Given the description of an element on the screen output the (x, y) to click on. 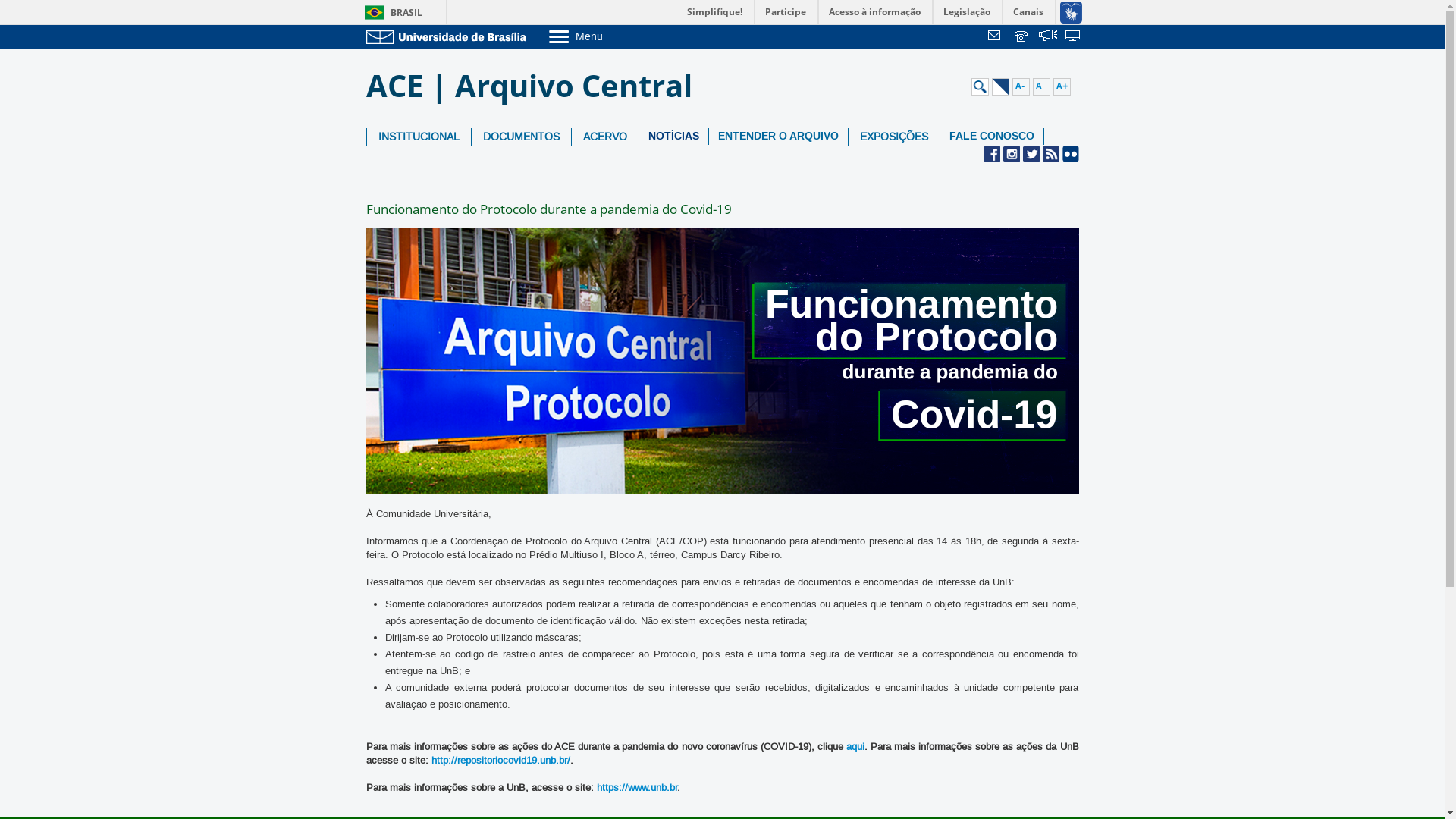
FALE CONOSCO Element type: text (991, 136)
Telefones da UnB Element type: hover (1022, 37)
A- Element type: text (1020, 86)
  Element type: text (1073, 37)
https://www.unb.br Element type: text (636, 787)
A+ Element type: text (1061, 86)
http://repositoriocovid19.unb.br/ Element type: text (499, 760)
  Element type: text (1047, 37)
ENTENDER O ARQUIVO Element type: text (777, 136)
A Element type: text (1041, 86)
Fala.BR Element type: hover (1047, 37)
BRASIL Element type: text (389, 12)
Menu Element type: text (613, 35)
  Element type: text (1022, 37)
ACE | Arquivo Central Element type: text (533, 85)
Webmail Element type: hover (996, 37)
aqui Element type: text (855, 746)
Ir para o Portal da UnB Element type: hover (448, 36)
Sistemas Element type: hover (1073, 37)
  Element type: text (996, 37)
